Given the description of an element on the screen output the (x, y) to click on. 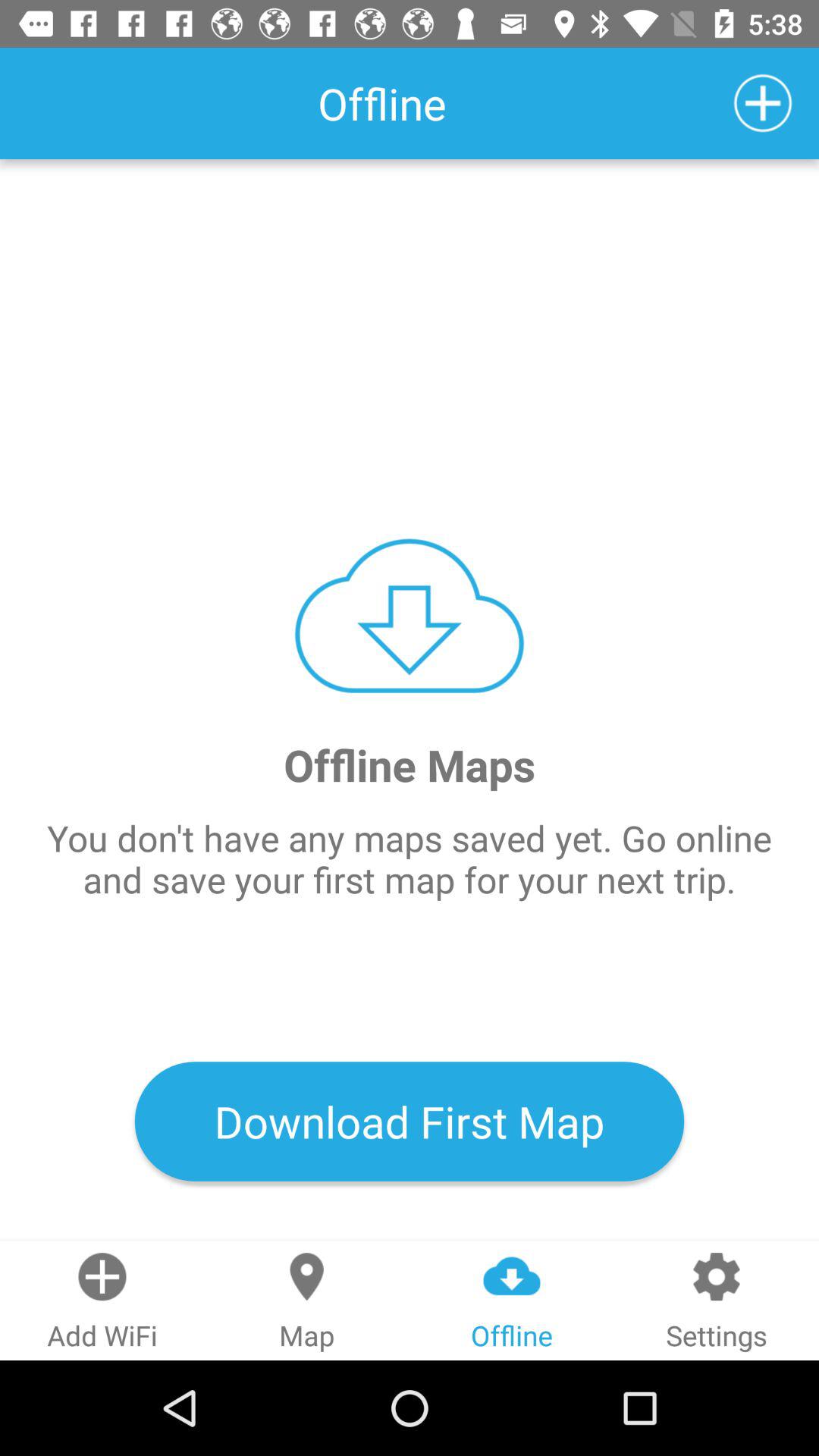
turn off item to the right of the offline item (762, 103)
